Given the description of an element on the screen output the (x, y) to click on. 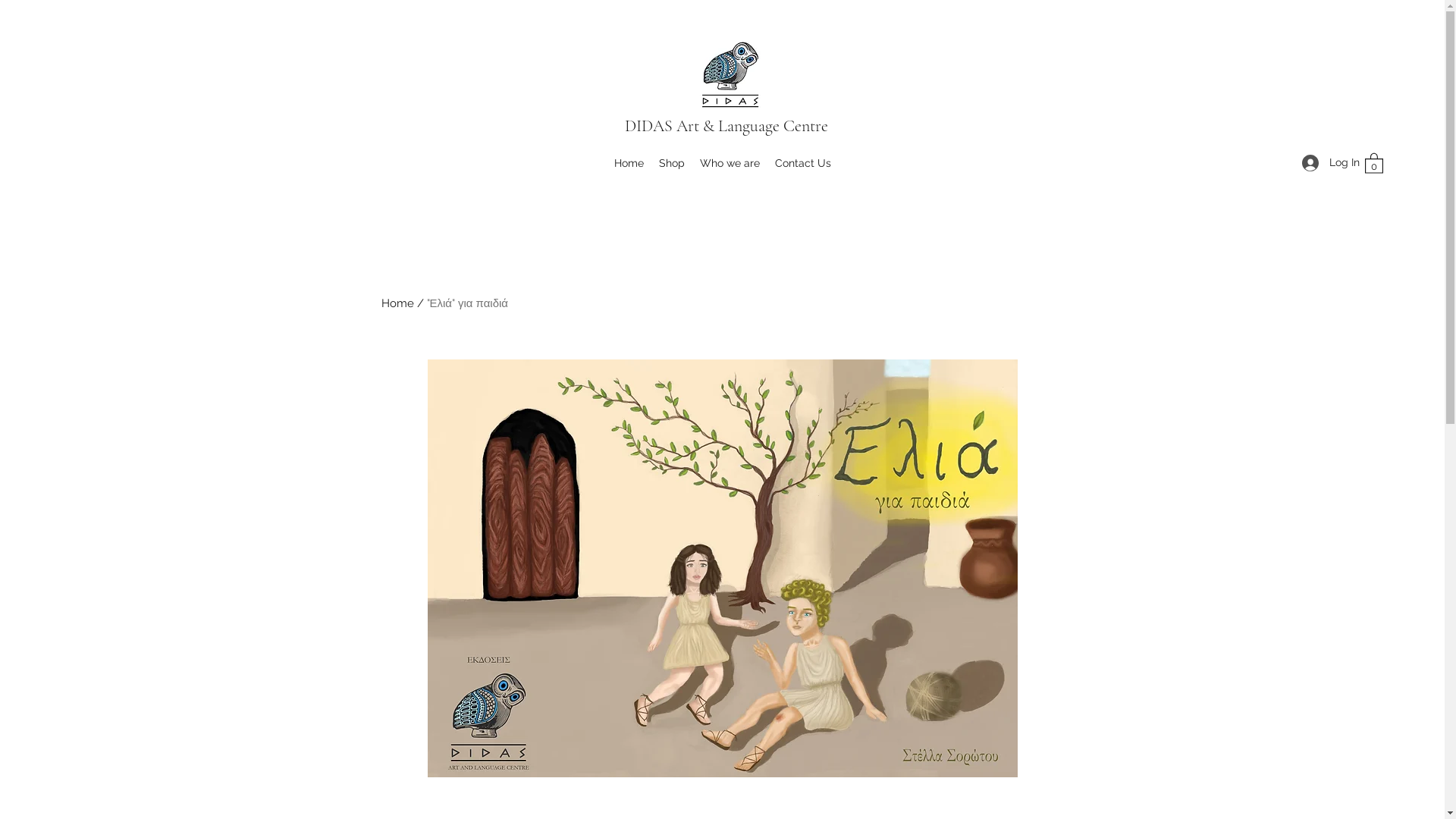
Log In Element type: text (1325, 162)
Home Element type: text (628, 162)
DIDAS Art & Language Centre Element type: text (726, 125)
0 Element type: text (1374, 162)
Who we are Element type: text (728, 162)
Home Element type: text (396, 303)
Contact Us Element type: text (802, 162)
Shop Element type: text (670, 162)
